Given the description of an element on the screen output the (x, y) to click on. 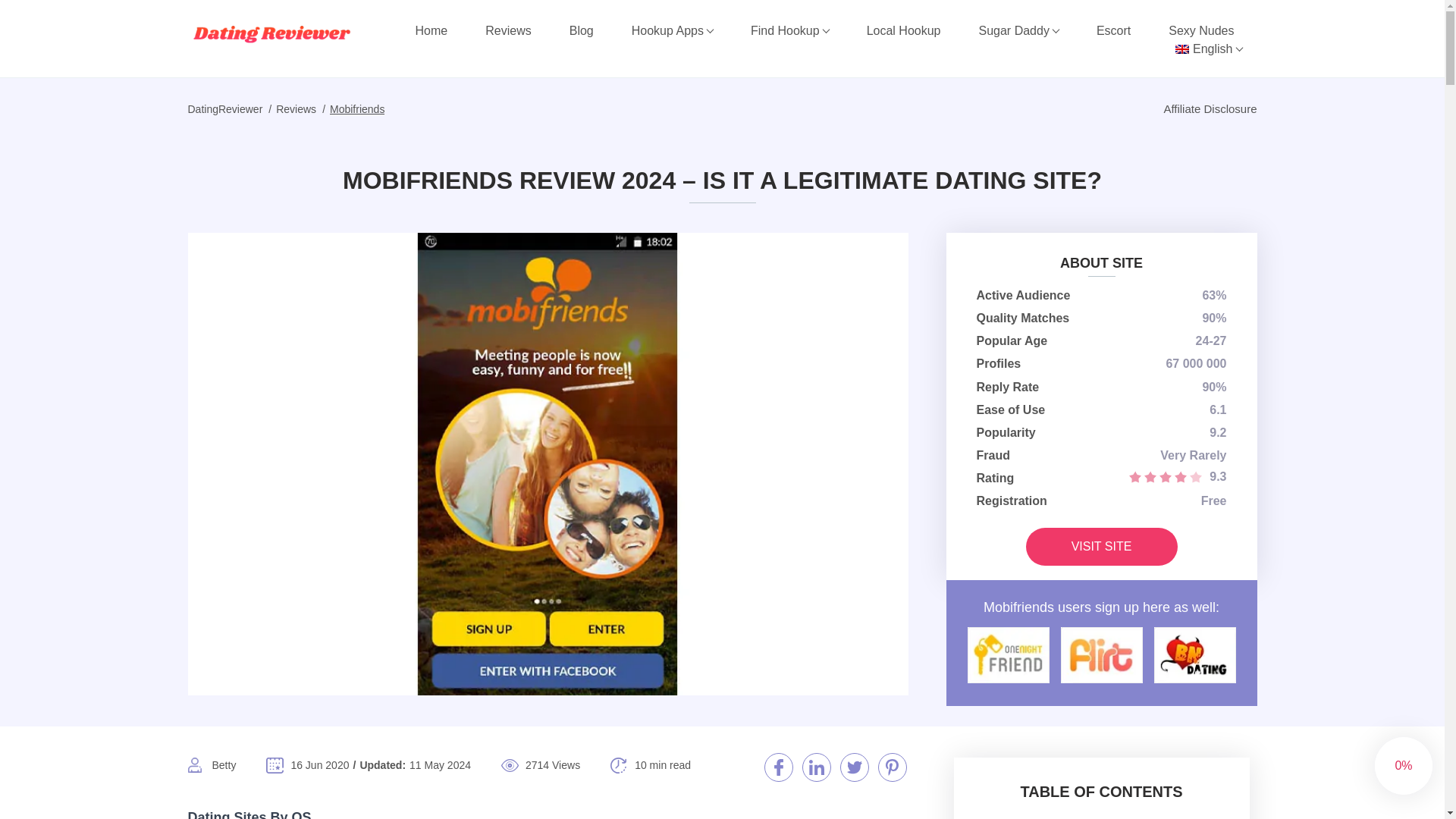
English (1208, 49)
Find Hookup (789, 31)
Sexy Nudes (1201, 31)
Reviews (508, 31)
Reviews (508, 31)
Home (431, 31)
Hookup Apps (671, 31)
Blog (581, 31)
Escort (1113, 31)
Home (431, 31)
Local Hookup (903, 31)
Find Hookup (789, 31)
datingreviewer.net (271, 33)
Sugar Daddy (1017, 31)
Hookup Apps (671, 31)
